Given the description of an element on the screen output the (x, y) to click on. 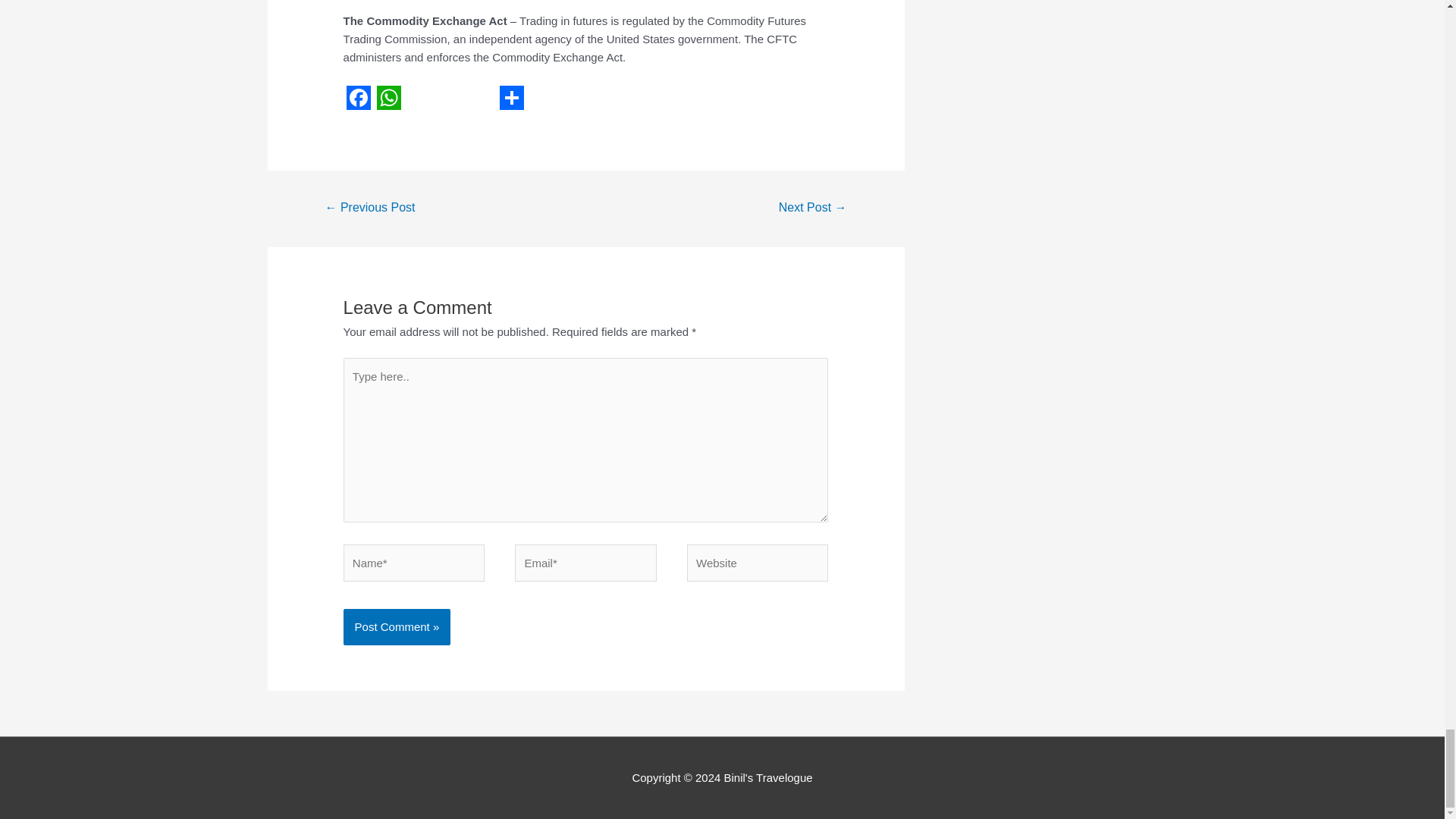
Sink (812, 208)
WhatsApp (389, 97)
Facebook (358, 97)
WhatsApp (389, 97)
Staying Up in a Long-Drawn-Out Job Search (368, 208)
Facebook (358, 97)
